Given the description of an element on the screen output the (x, y) to click on. 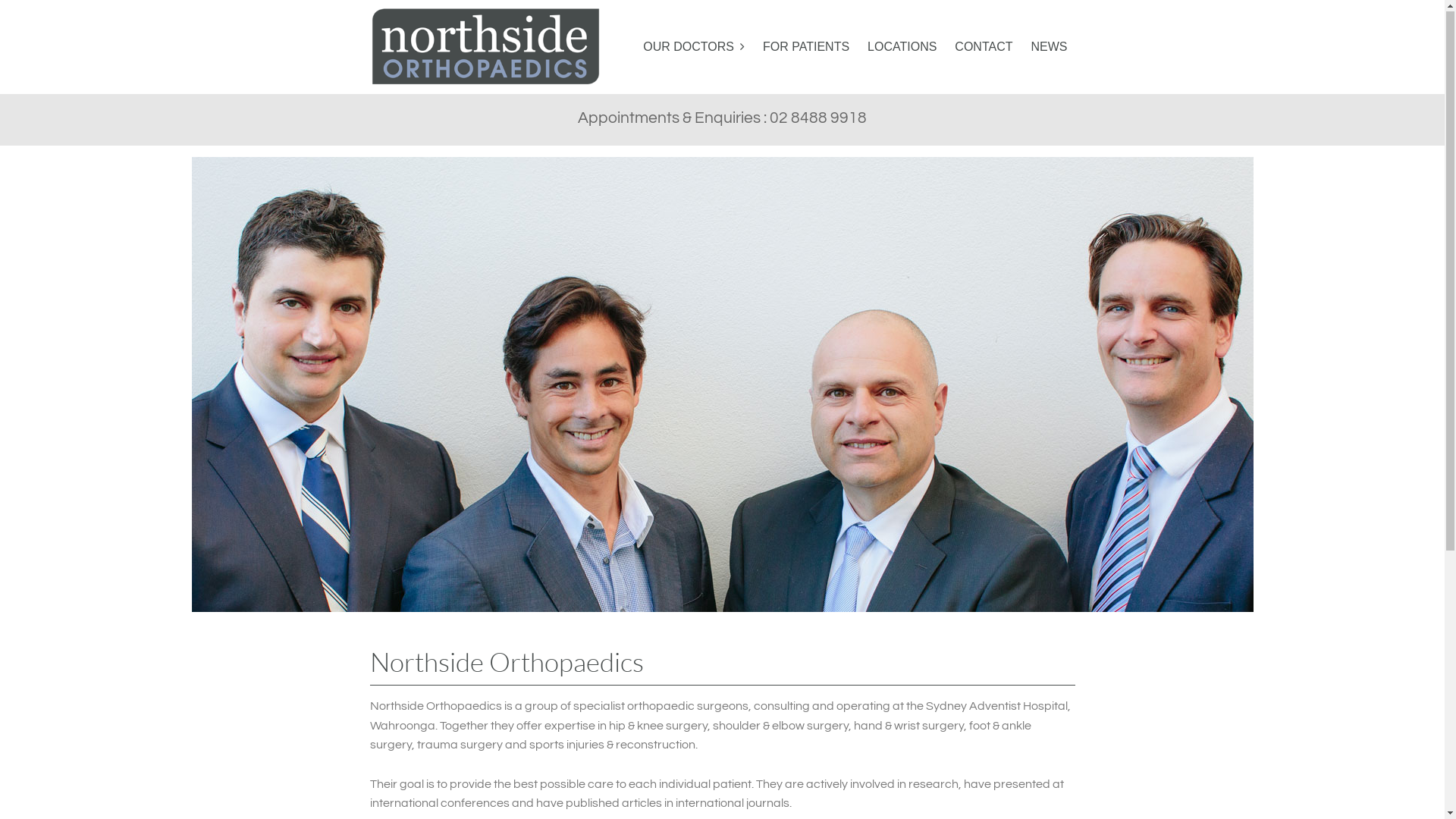
NEWS Element type: text (1049, 46)
LOCATIONS Element type: text (901, 46)
CONTACT Element type: text (983, 46)
FOR PATIENTS Element type: text (805, 46)
OUR DOCTORS Element type: text (693, 46)
